Given the description of an element on the screen output the (x, y) to click on. 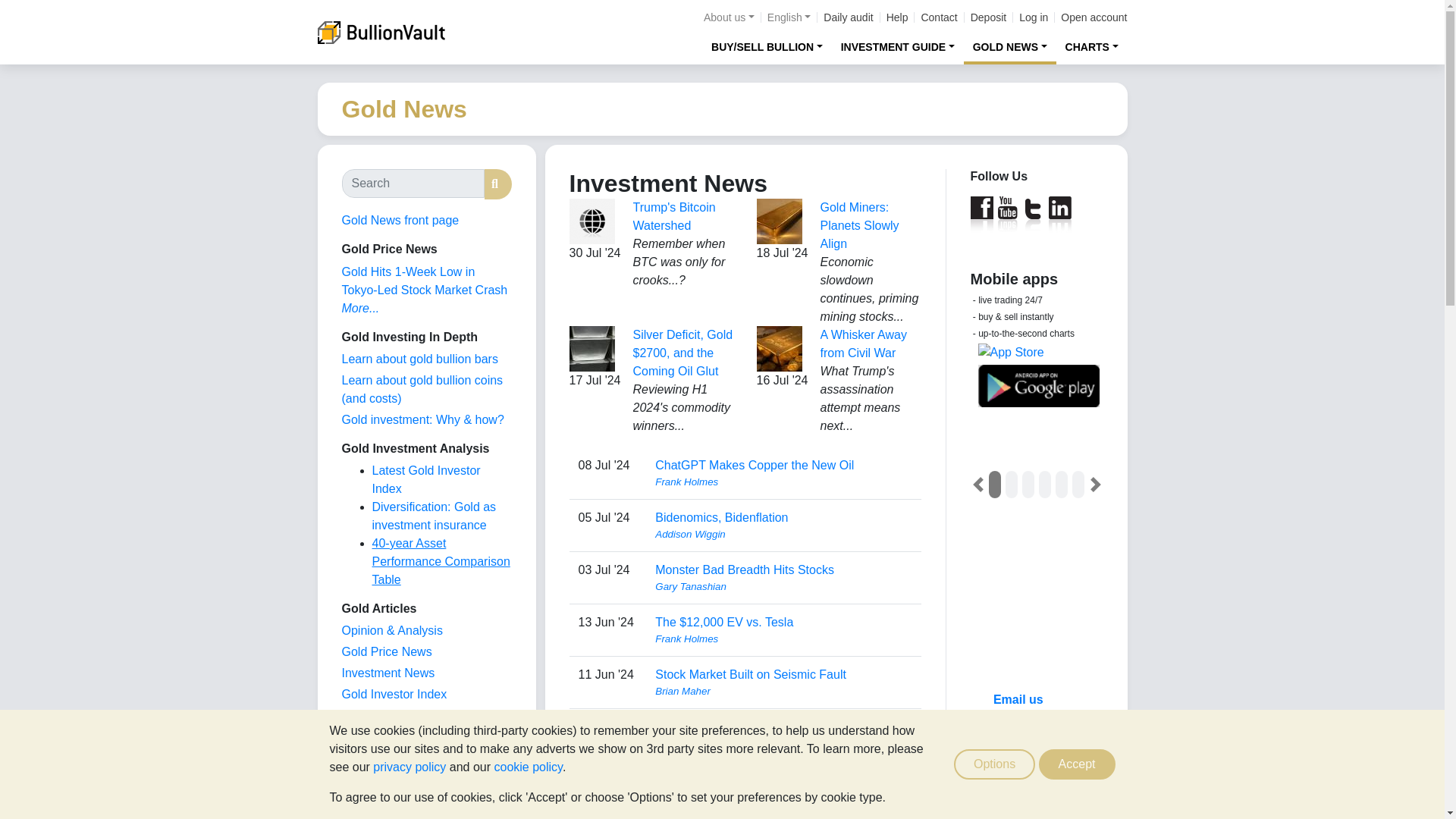
Log in (1033, 17)
Gold Infographics (387, 715)
privacy policy (408, 766)
Help (897, 17)
View user profile. (783, 691)
Gold Price News (385, 651)
Open account (1093, 17)
Options (994, 764)
View user profile. (783, 534)
View user profile. (783, 639)
View user profile. (783, 482)
INVESTMENT GUIDE (897, 46)
View user profile. (783, 586)
Accept (1077, 764)
Daily audit (848, 17)
